Given the description of an element on the screen output the (x, y) to click on. 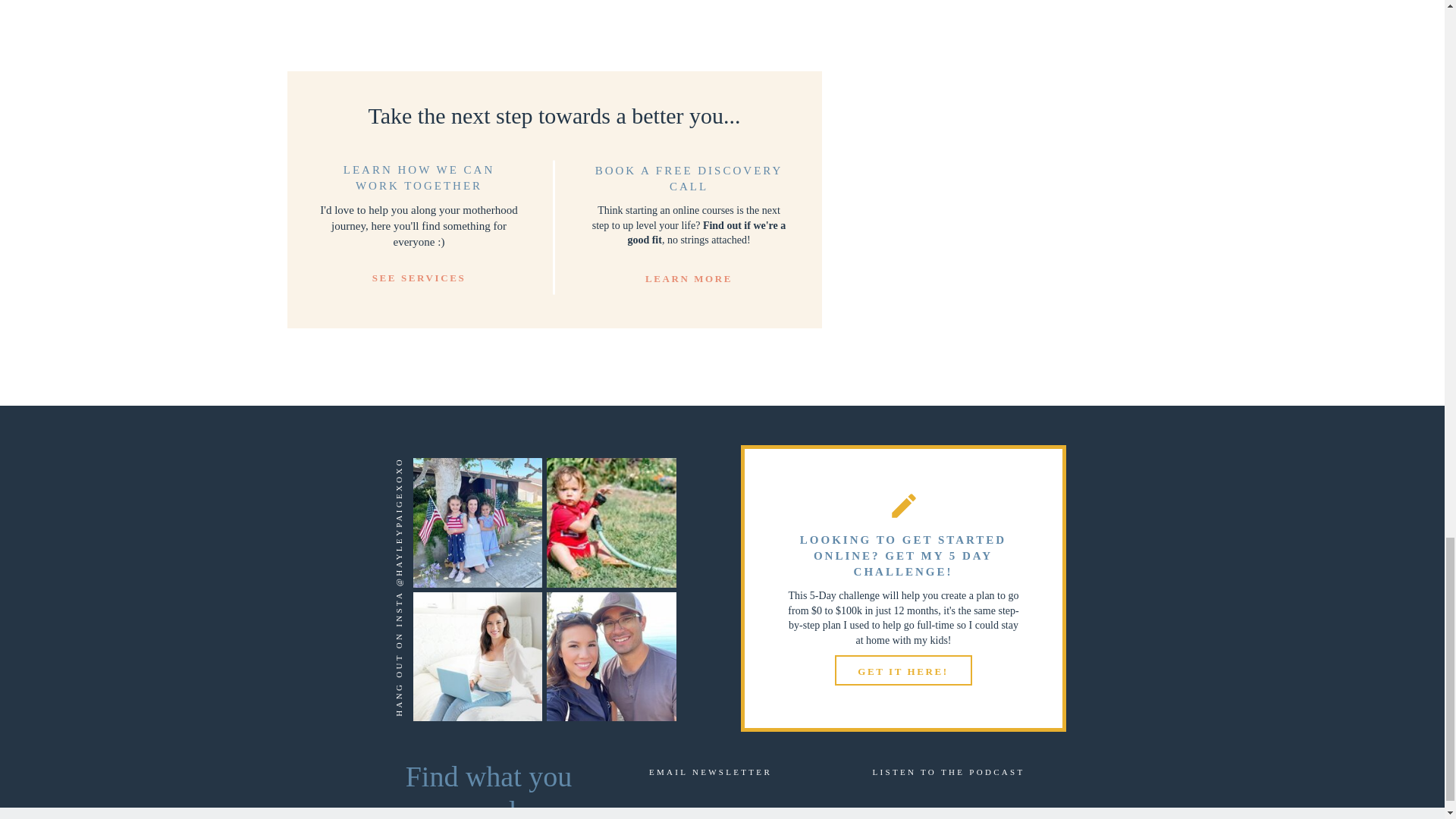
hpjig-1 (476, 522)
hpjig-4 (612, 656)
hpjig-3 (612, 522)
hpjig-2 (476, 656)
